Given the description of an element on the screen output the (x, y) to click on. 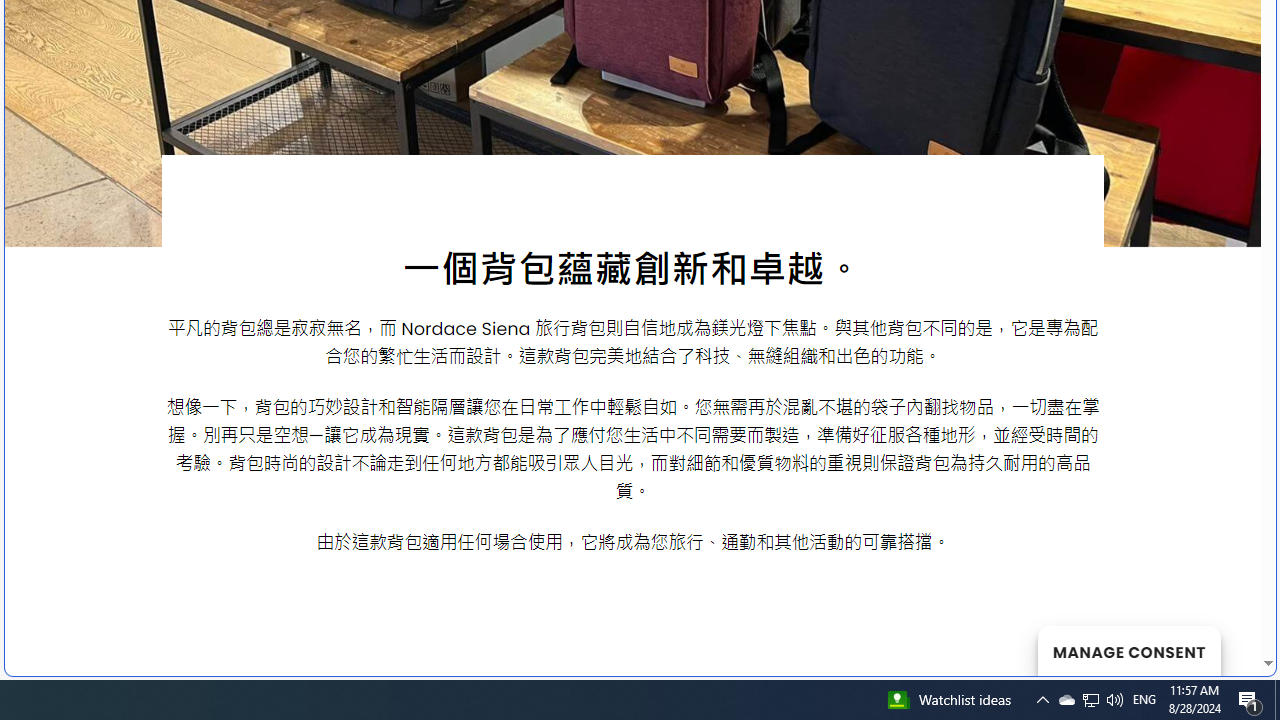
MANAGE CONSENT (1128, 650)
